Given the description of an element on the screen output the (x, y) to click on. 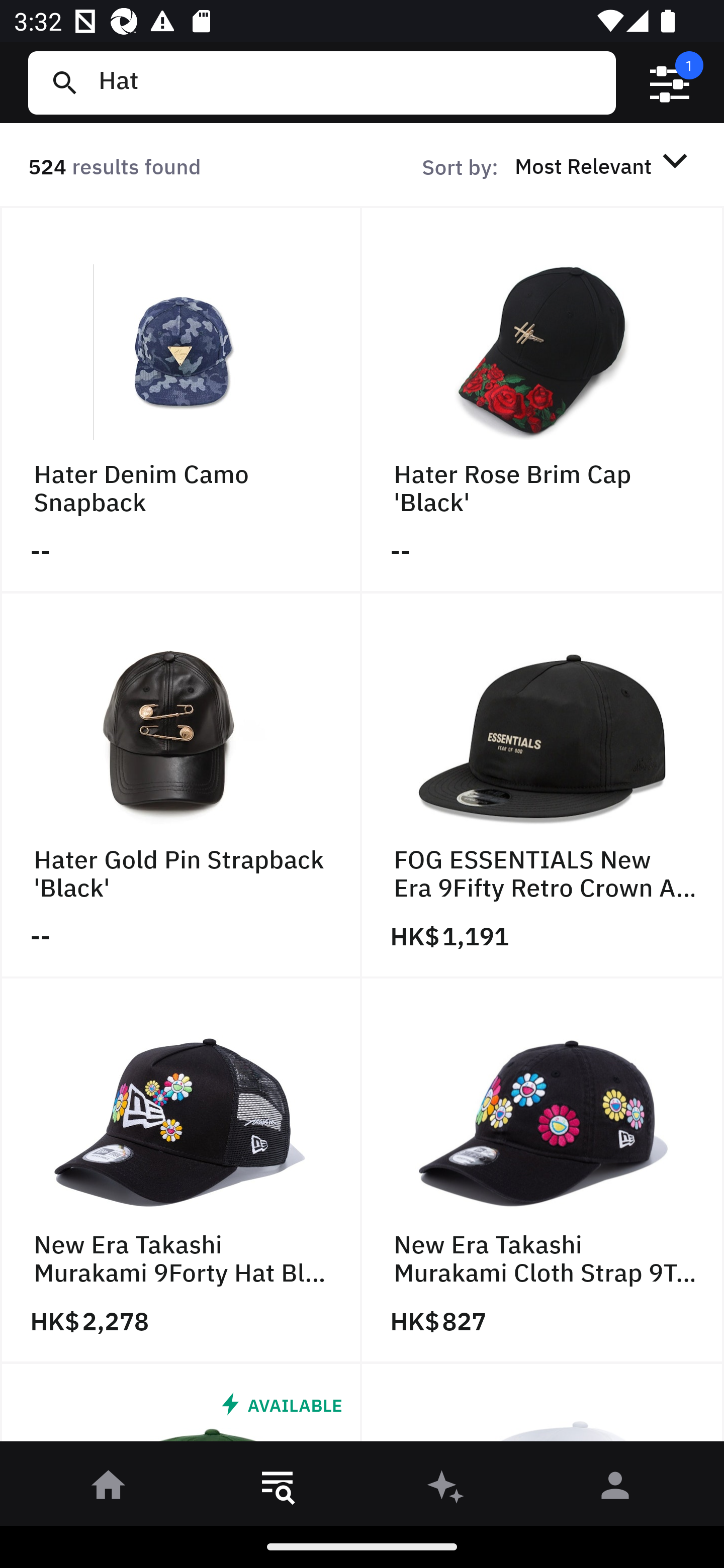
Hat (349, 82)
 (669, 82)
Most Relevant  (604, 165)
Hater Denim Camo Snapback -- (181, 399)
Hater Rose Brim Cap 'Black' -- (543, 399)
Hater Gold Pin Strapback 'Black' -- (181, 785)
󰋜 (108, 1488)
󱎸 (277, 1488)
󰫢 (446, 1488)
󰀄 (615, 1488)
